Given the description of an element on the screen output the (x, y) to click on. 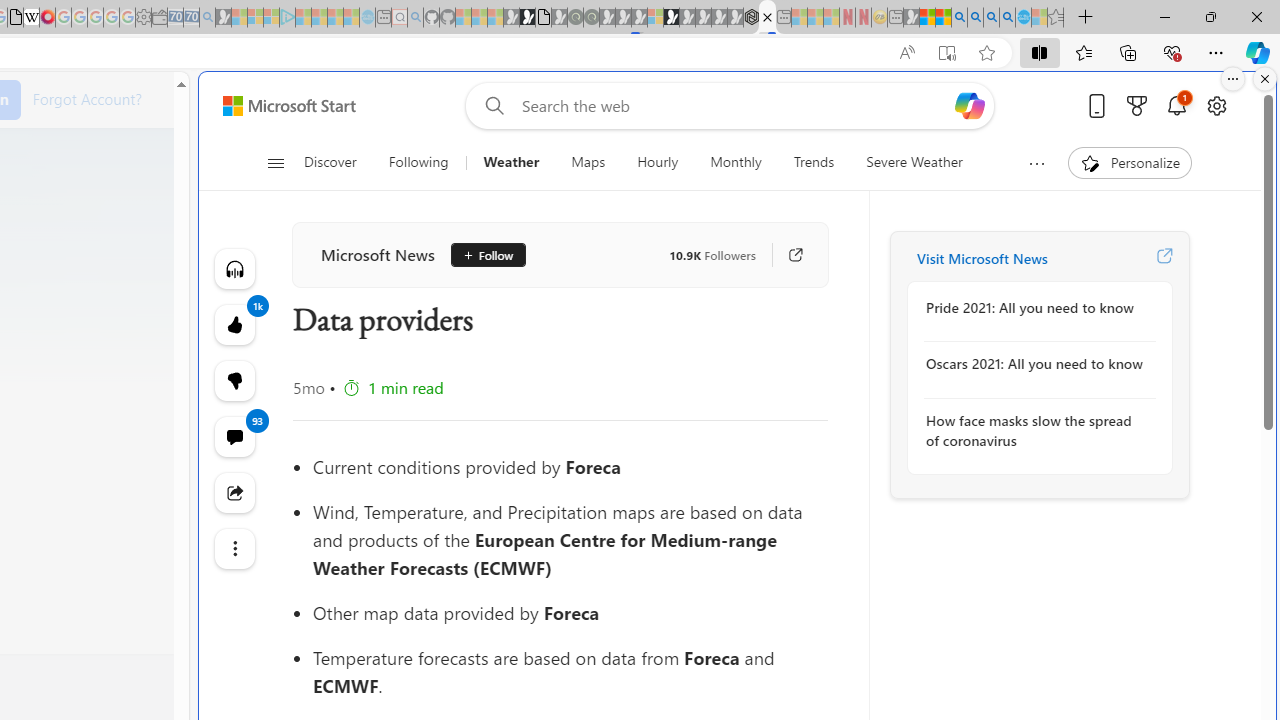
Play Zoo Boom in your browser | Games from Microsoft Start (527, 17)
Other map data provided by Foreca (570, 613)
Go to publisher's site (786, 255)
Maps (588, 162)
Microsoft rewards (1137, 105)
Personalize (1128, 162)
Weather (511, 162)
Bing Real Estate - Home sales and rental listings - Sleeping (207, 17)
Read aloud this page (Ctrl+Shift+U) (906, 53)
Hourly (657, 162)
Class: at-item (234, 548)
Following (420, 162)
